Given the description of an element on the screen output the (x, y) to click on. 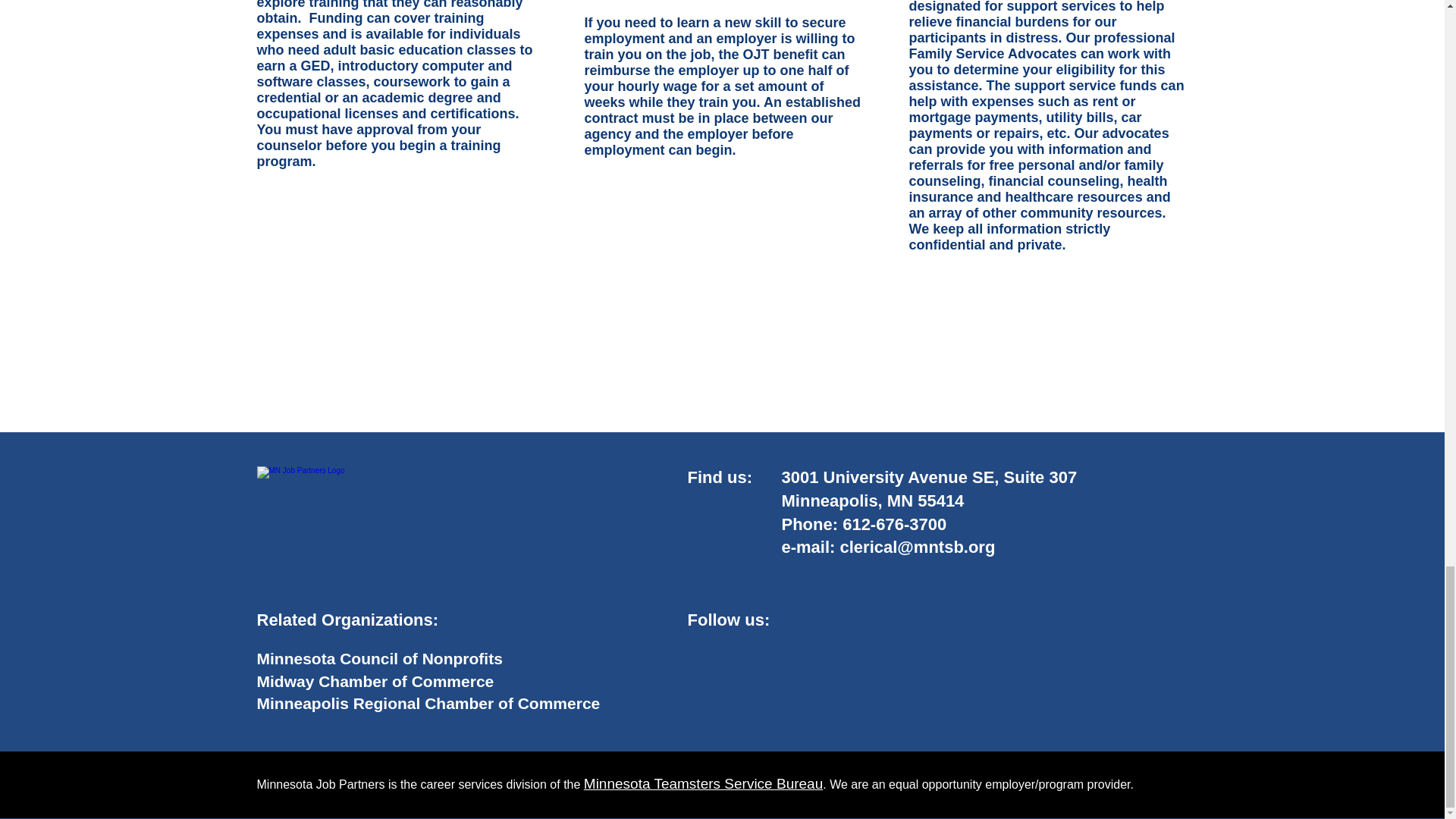
Minnesota Teamsters Service Bureau (702, 783)
MN Job Partners Logo. Click to return to the homepage. (408, 501)
